Given the description of an element on the screen output the (x, y) to click on. 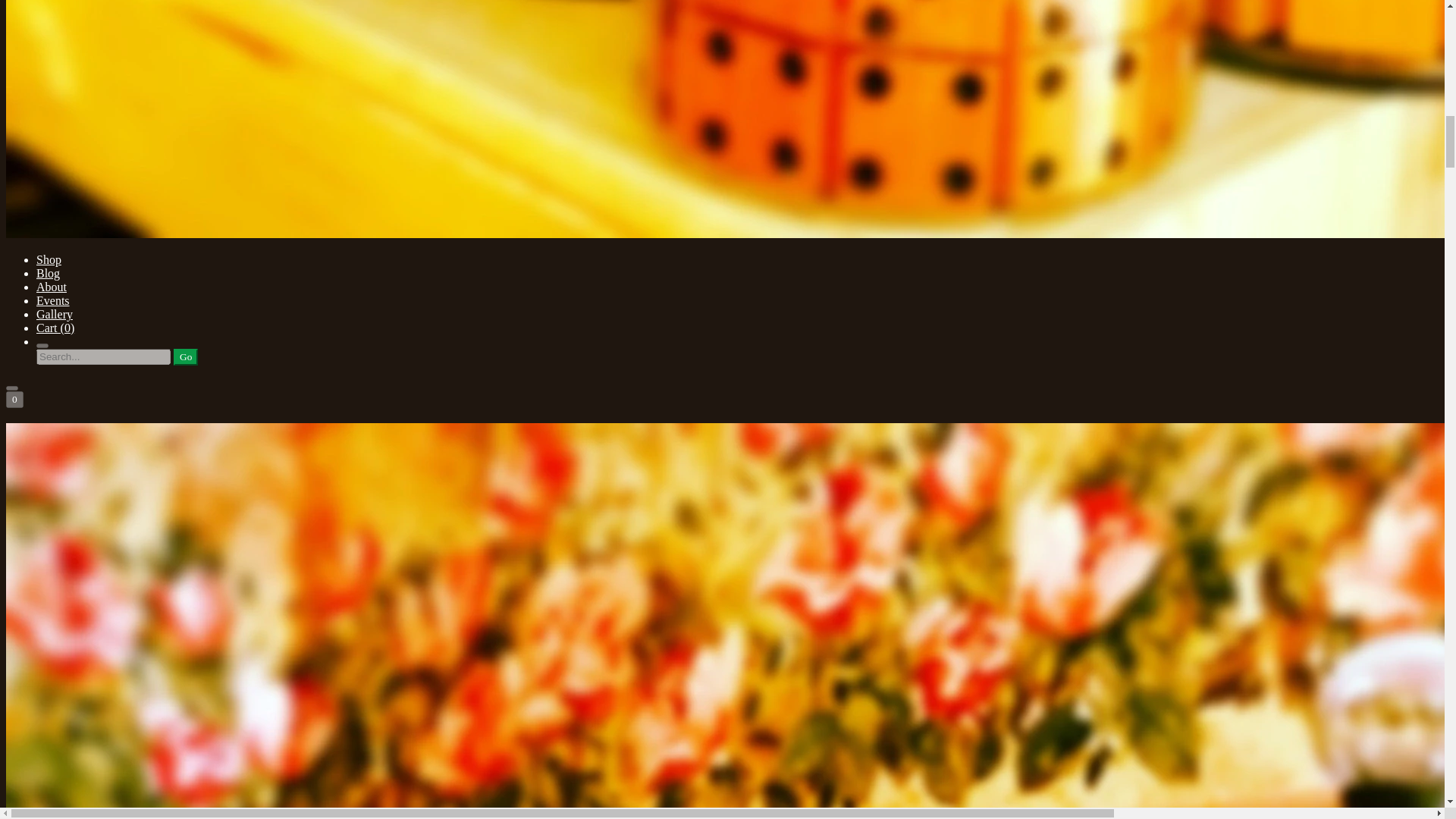
Blog (47, 273)
Gallery (54, 314)
Shop (48, 259)
Events (52, 300)
Go (185, 356)
About (51, 286)
Go (185, 356)
0 (14, 399)
